Given the description of an element on the screen output the (x, y) to click on. 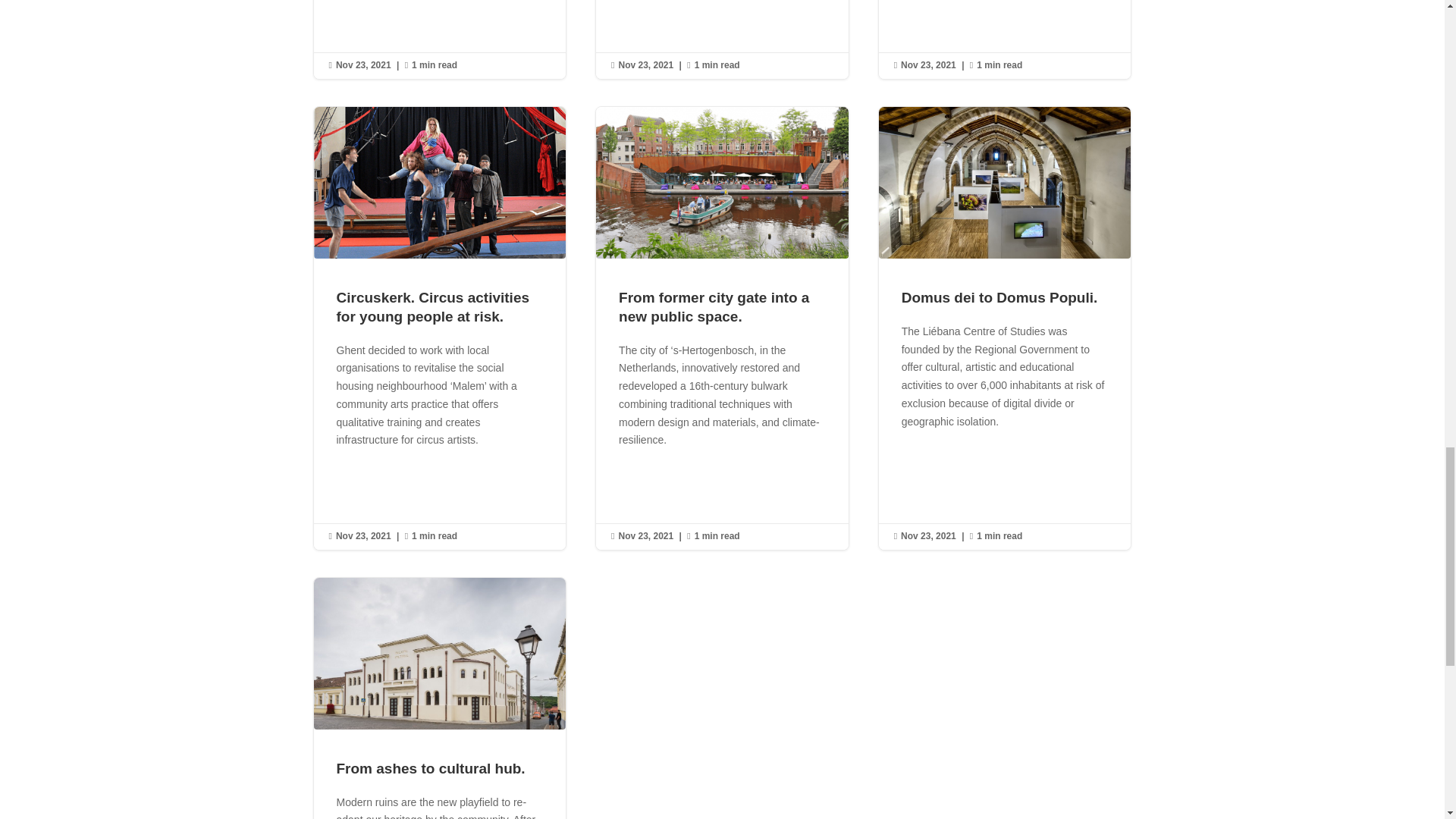
Read More (660, 11)
Read More (378, 11)
